Given the description of an element on the screen output the (x, y) to click on. 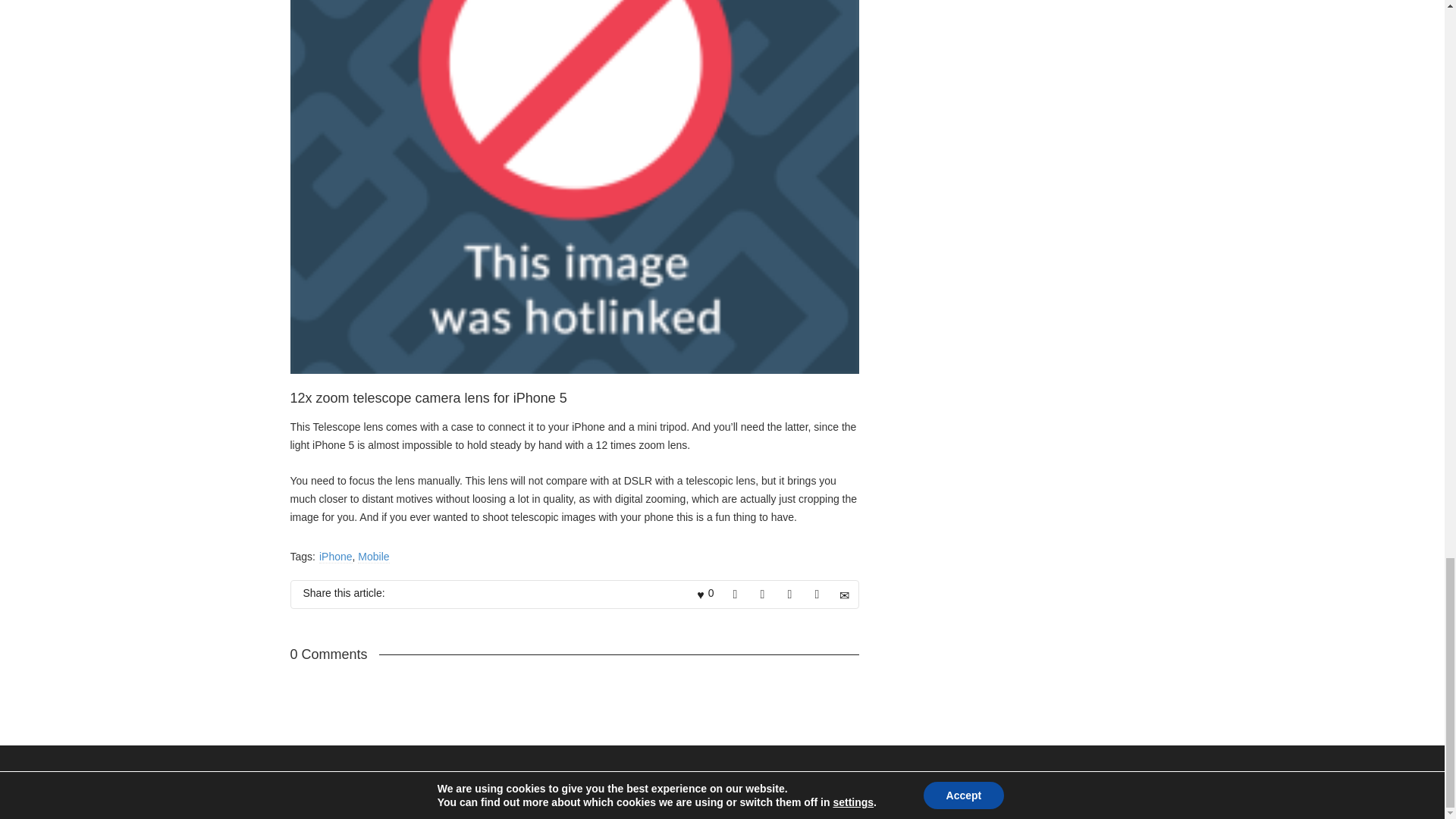
Skalinformation AB. (443, 798)
iPhone (335, 556)
Mobile (373, 556)
